Given the description of an element on the screen output the (x, y) to click on. 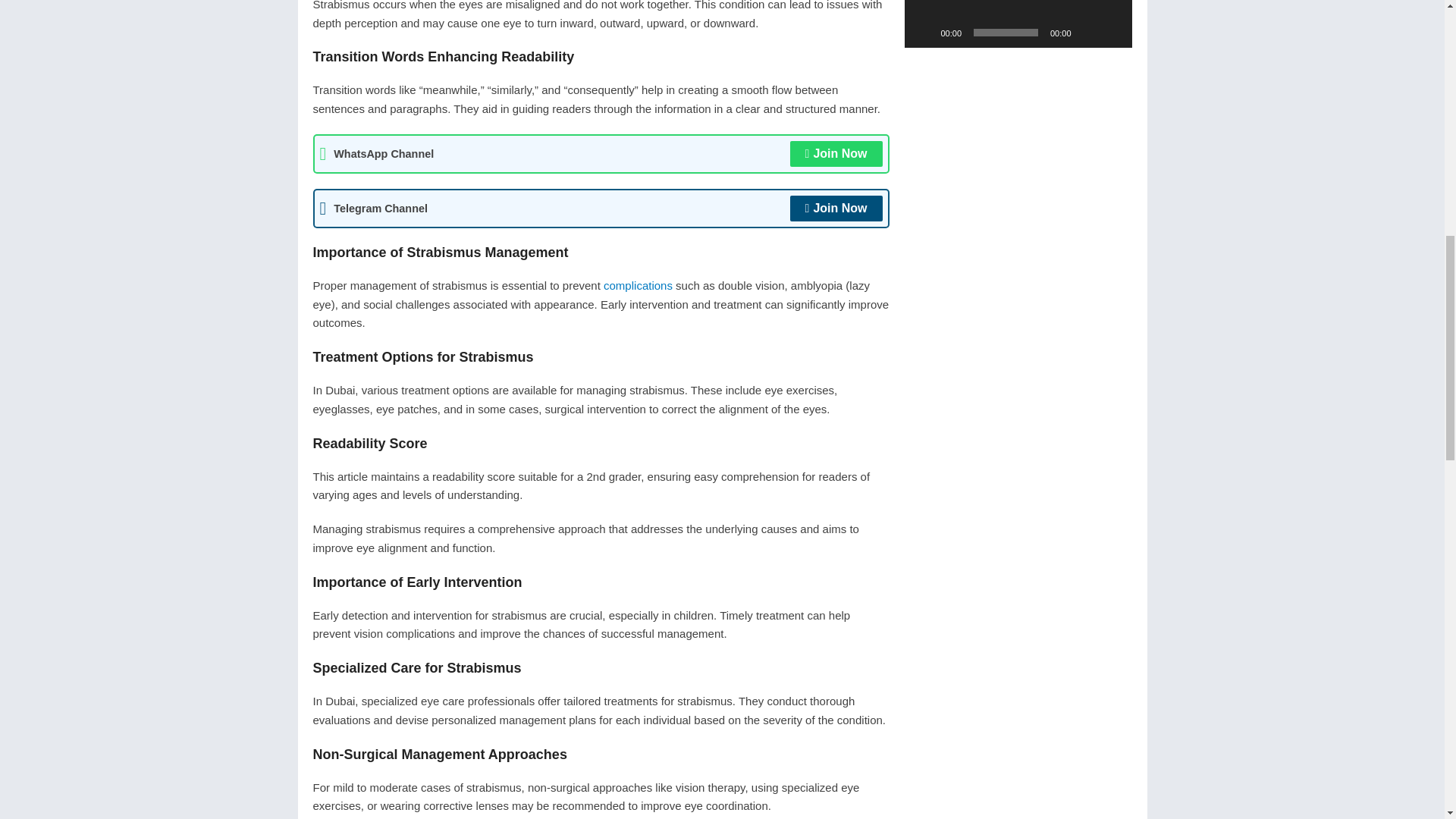
complications (638, 285)
Join Now (836, 153)
Join Now (836, 208)
